Given the description of an element on the screen output the (x, y) to click on. 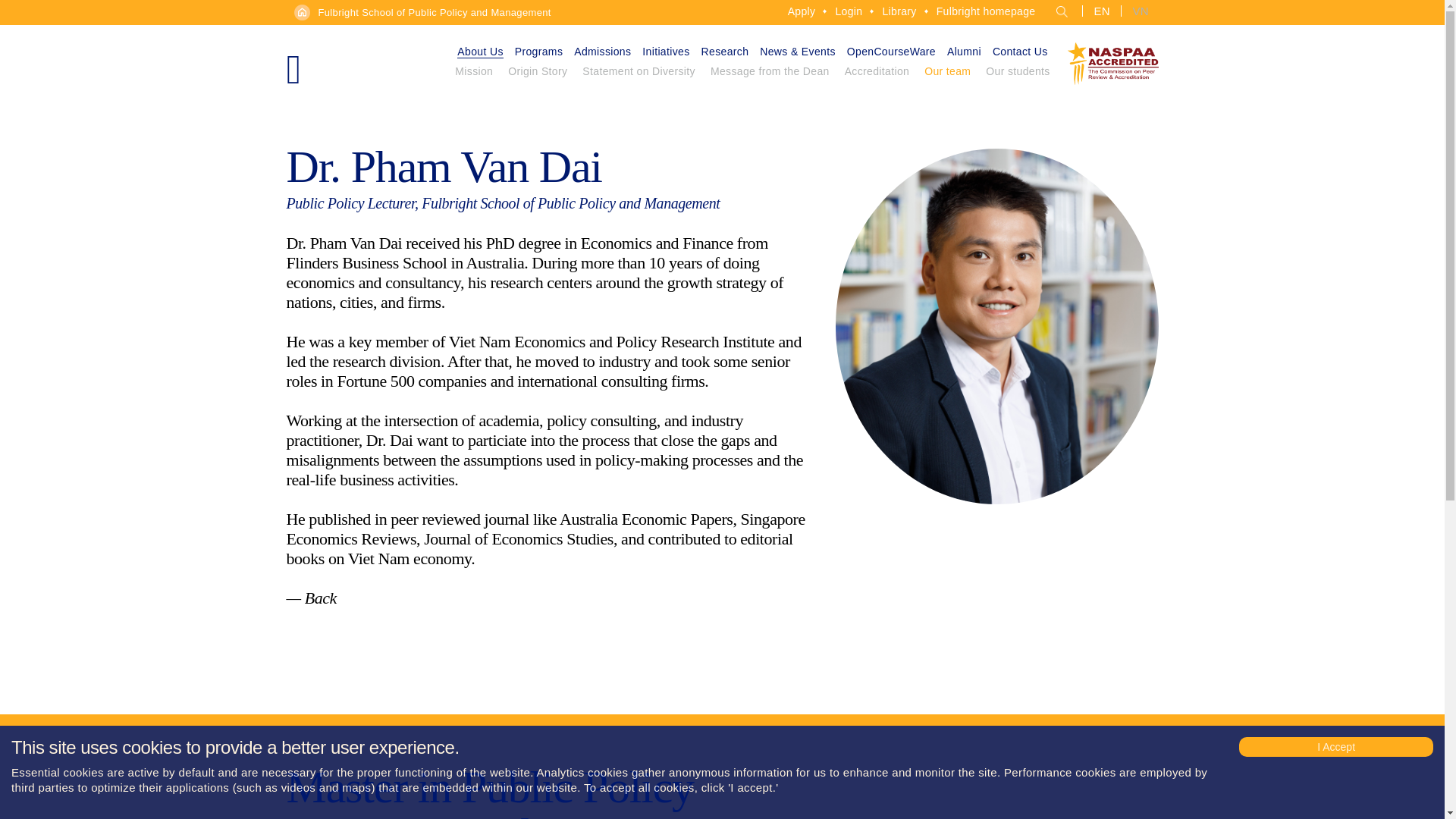
Fulbright University Vietnam (362, 57)
Mission (473, 75)
Apply (801, 10)
Initiatives (665, 51)
Programs (538, 51)
VN (1138, 9)
About Us (479, 51)
Admissions (601, 51)
Message from the Dean (769, 75)
Origin Story (537, 75)
EN (1099, 9)
Fulbright School of Public Policy and Management (434, 12)
Accreditation (876, 75)
EN (1099, 9)
VN (1138, 9)
